Given the description of an element on the screen output the (x, y) to click on. 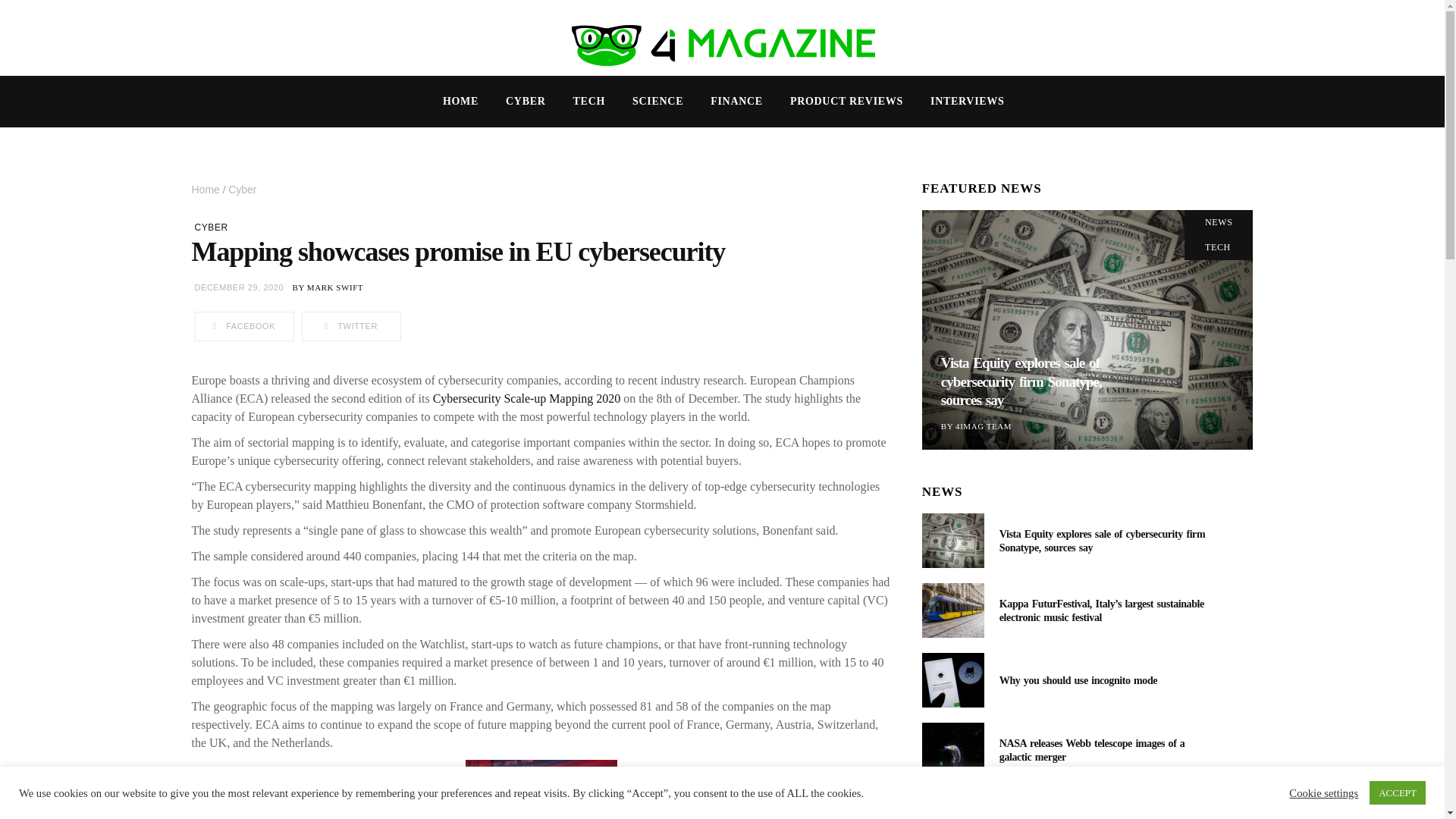
Home (206, 189)
PRODUCT REVIEWS (846, 101)
DECEMBER 29, 2020 (238, 286)
MARK SWIFT (334, 286)
Why you should use incognito mode (1077, 680)
CYBER (210, 226)
FINANCE (736, 101)
HOME (460, 101)
TECH (588, 101)
NASA releases Webb telescope images of a galactic merger (952, 749)
NASA releases Webb telescope images of a galactic merger (1091, 749)
INTERVIEWS (967, 101)
SCIENCE (657, 101)
